Given the description of an element on the screen output the (x, y) to click on. 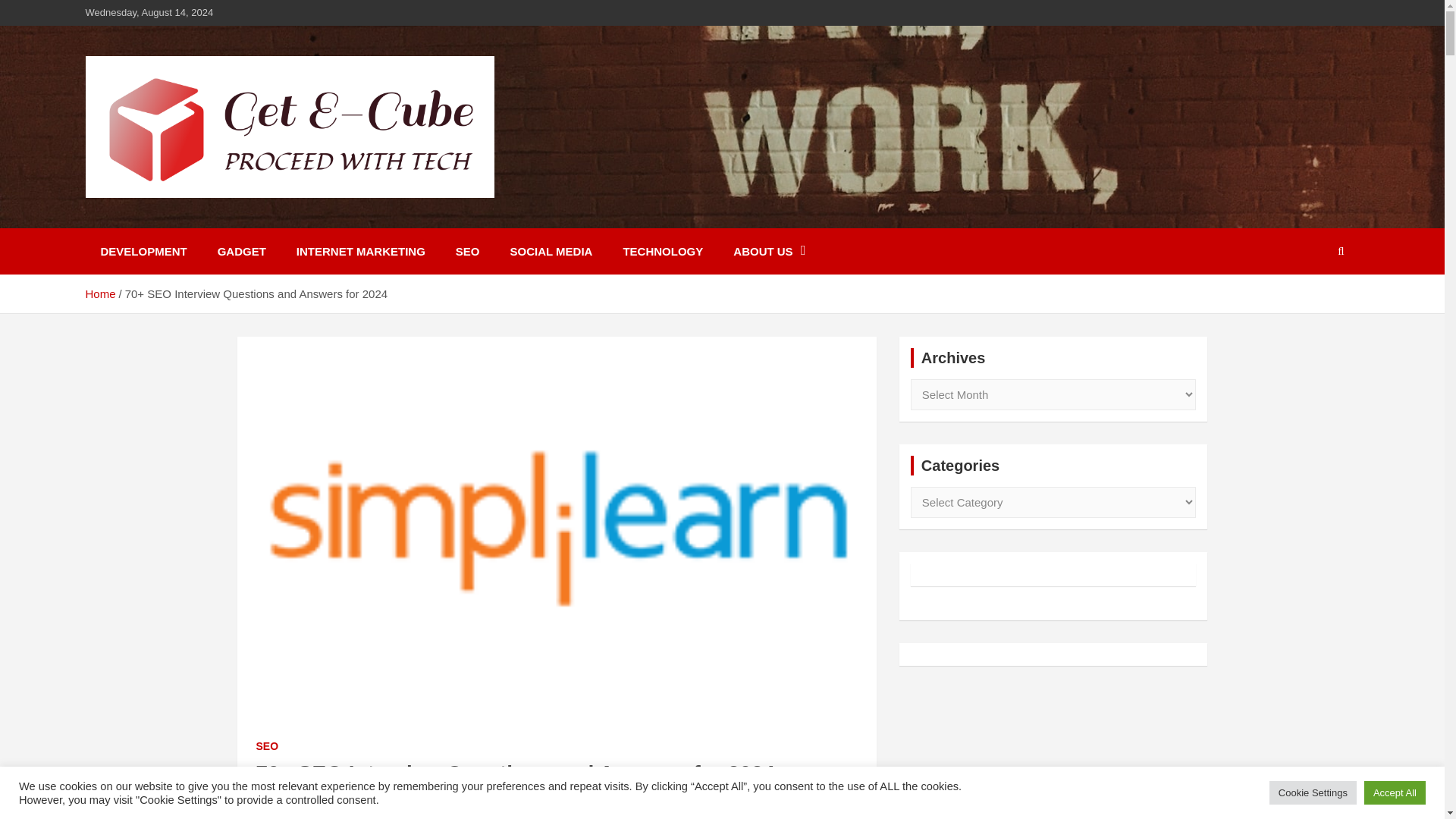
DEVELOPMENT (143, 251)
INTERNET MARKETING (361, 251)
TECHNOLOGY (662, 251)
GADGET (241, 251)
Home (99, 293)
SEO (468, 251)
SOCIAL MEDIA (551, 251)
Karla Madsen (379, 802)
Get E-Cube (167, 217)
October 15, 2023 (296, 802)
